Given the description of an element on the screen output the (x, y) to click on. 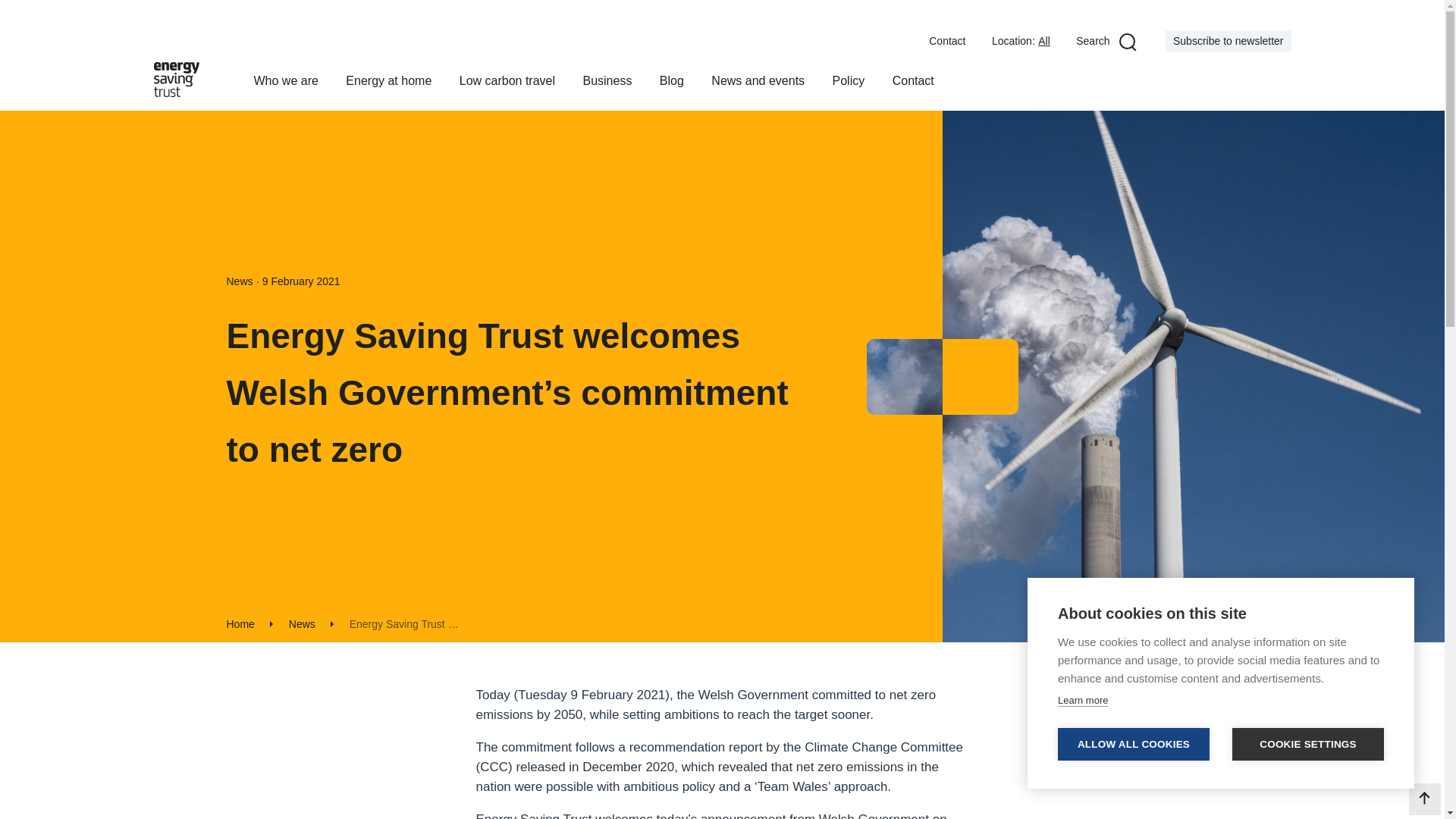
COOKIE SETTINGS (1307, 744)
ALLOW ALL COOKIES (1133, 744)
Learn more (1083, 700)
